Given the description of an element on the screen output the (x, y) to click on. 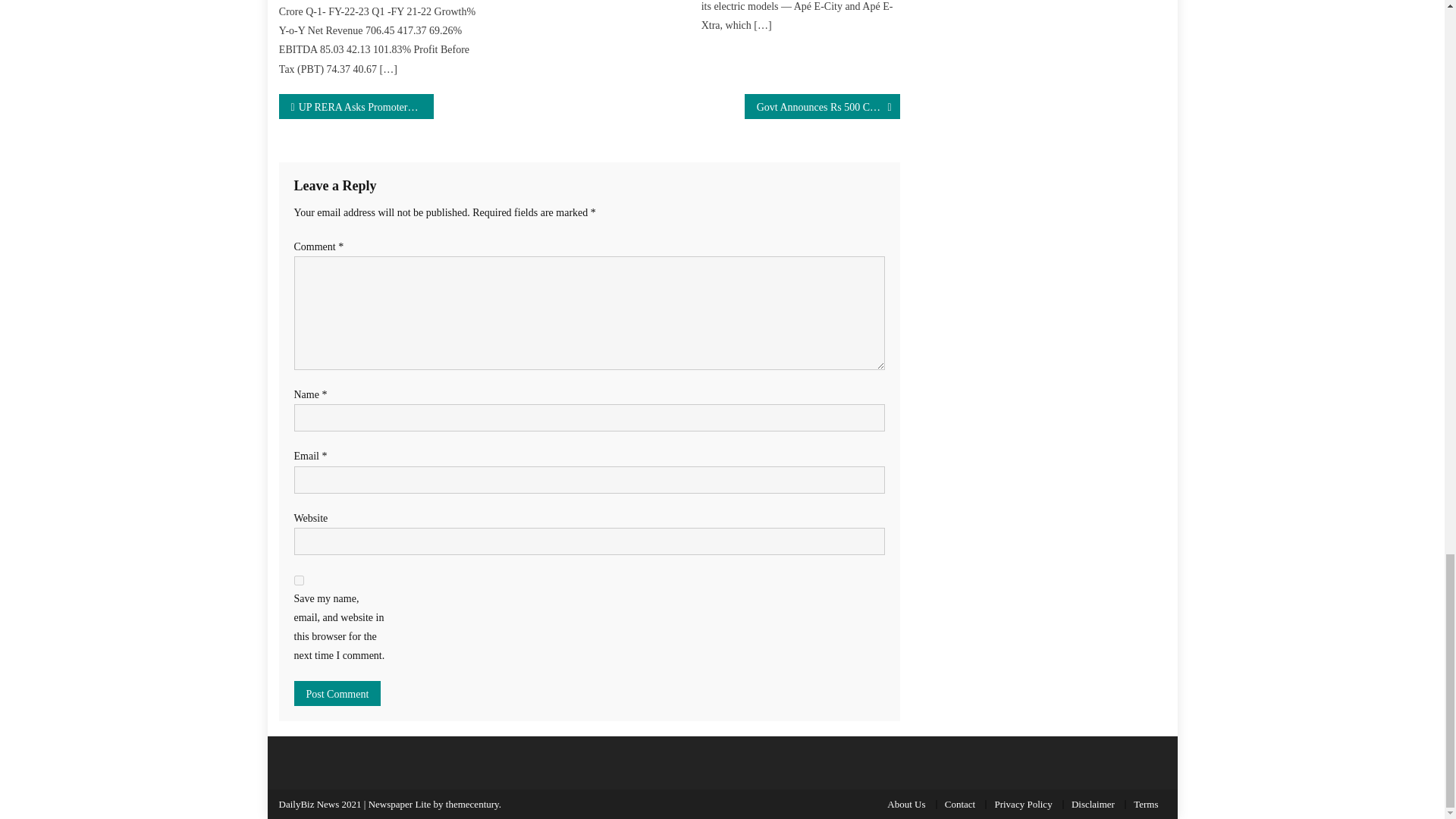
Govt Announces Rs 500 Cr Scheme To Promote E-Mobility (821, 106)
yes (299, 580)
Post Comment (337, 692)
